Given the description of an element on the screen output the (x, y) to click on. 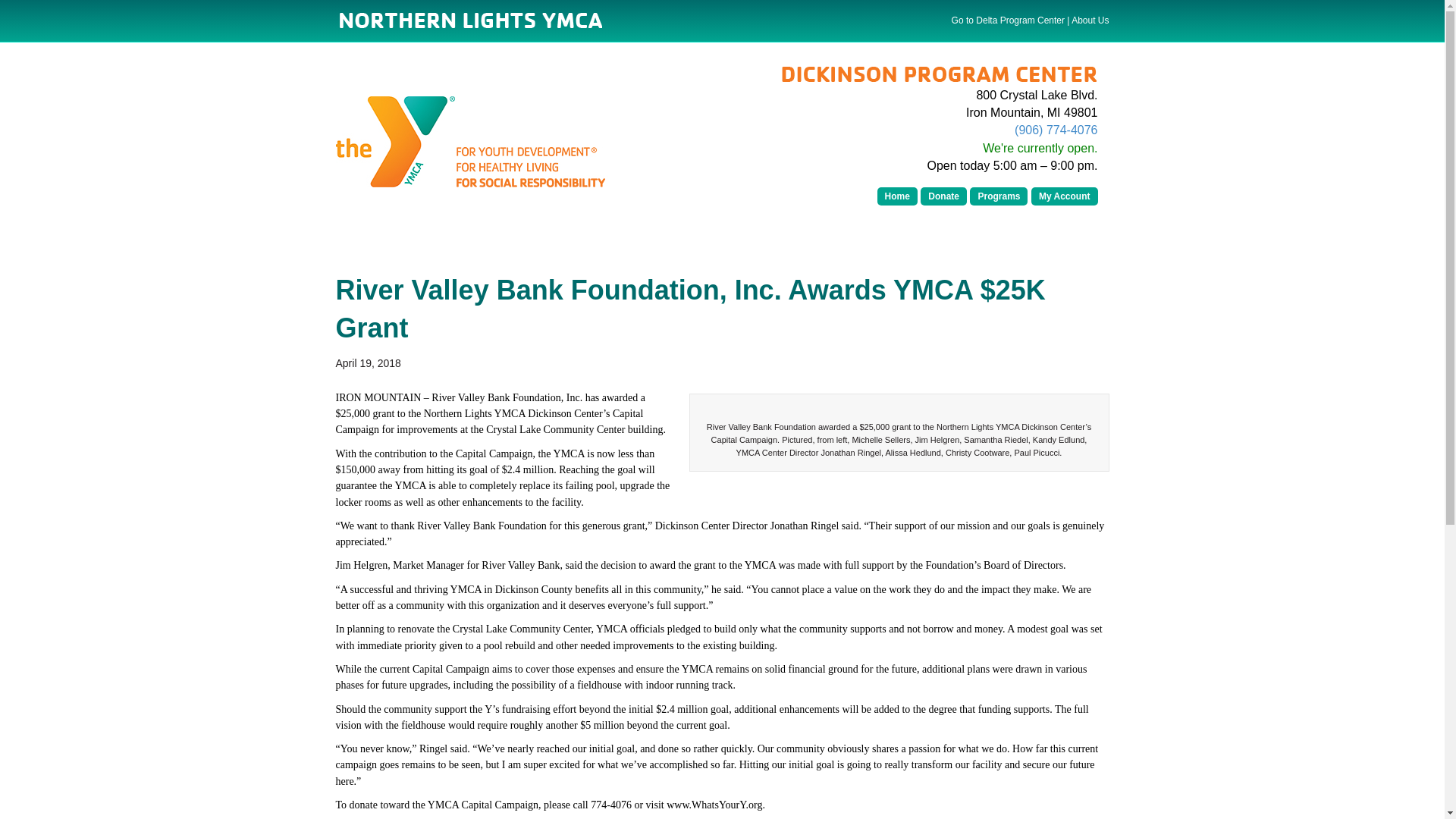
About Us (1089, 20)
Go to Delta Program Center (1008, 20)
Northern Lights YMCA (467, 22)
Programs (998, 196)
Dickinson Program Center (938, 75)
My Account (1063, 196)
Donate (943, 196)
Home (897, 196)
